Given the description of an element on the screen output the (x, y) to click on. 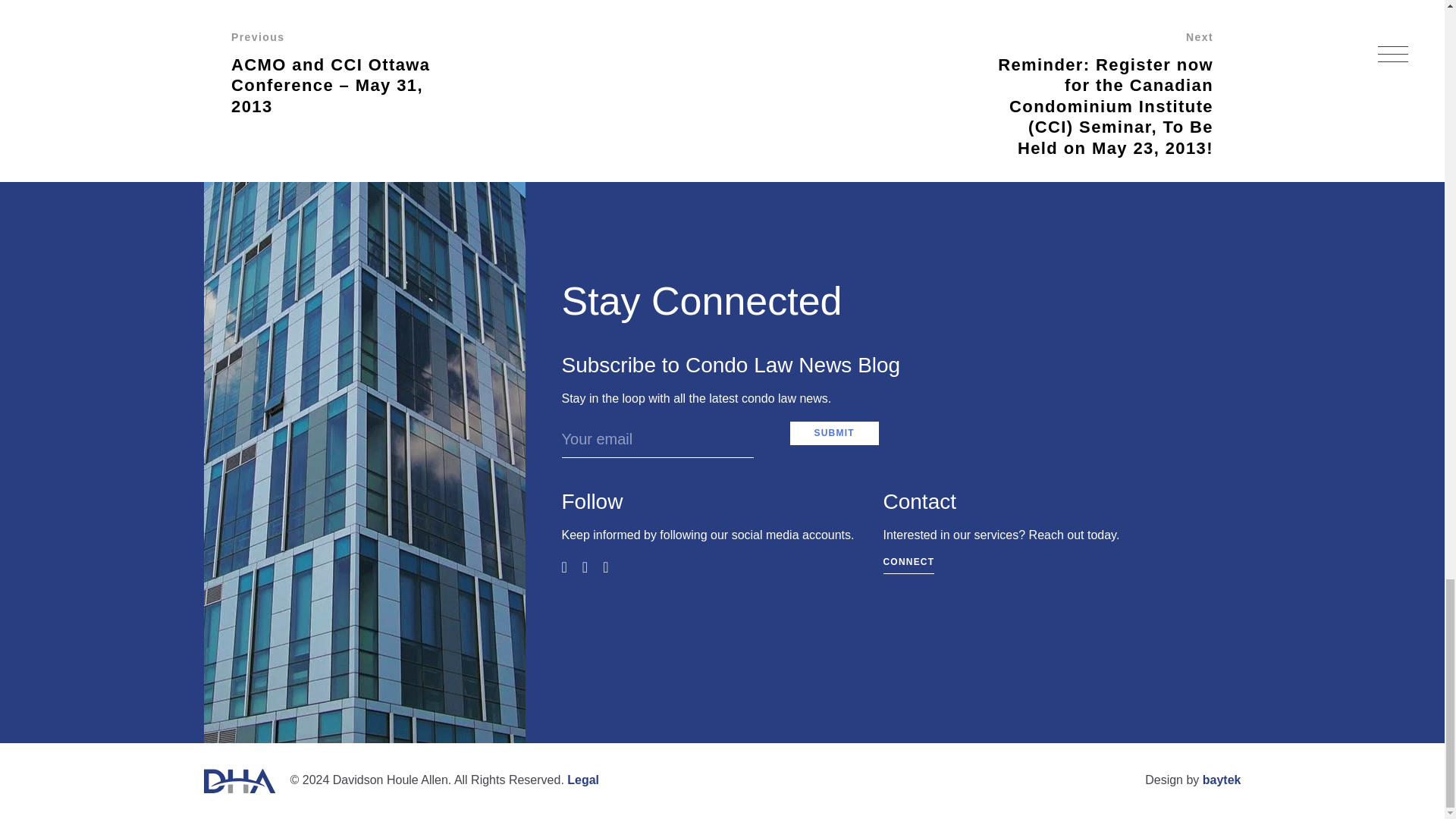
Legal (582, 779)
Ottawa Web Design and Branding (1221, 779)
CONNECT (908, 566)
Submit (834, 433)
Submit (834, 433)
baytek (1221, 779)
